Given the description of an element on the screen output the (x, y) to click on. 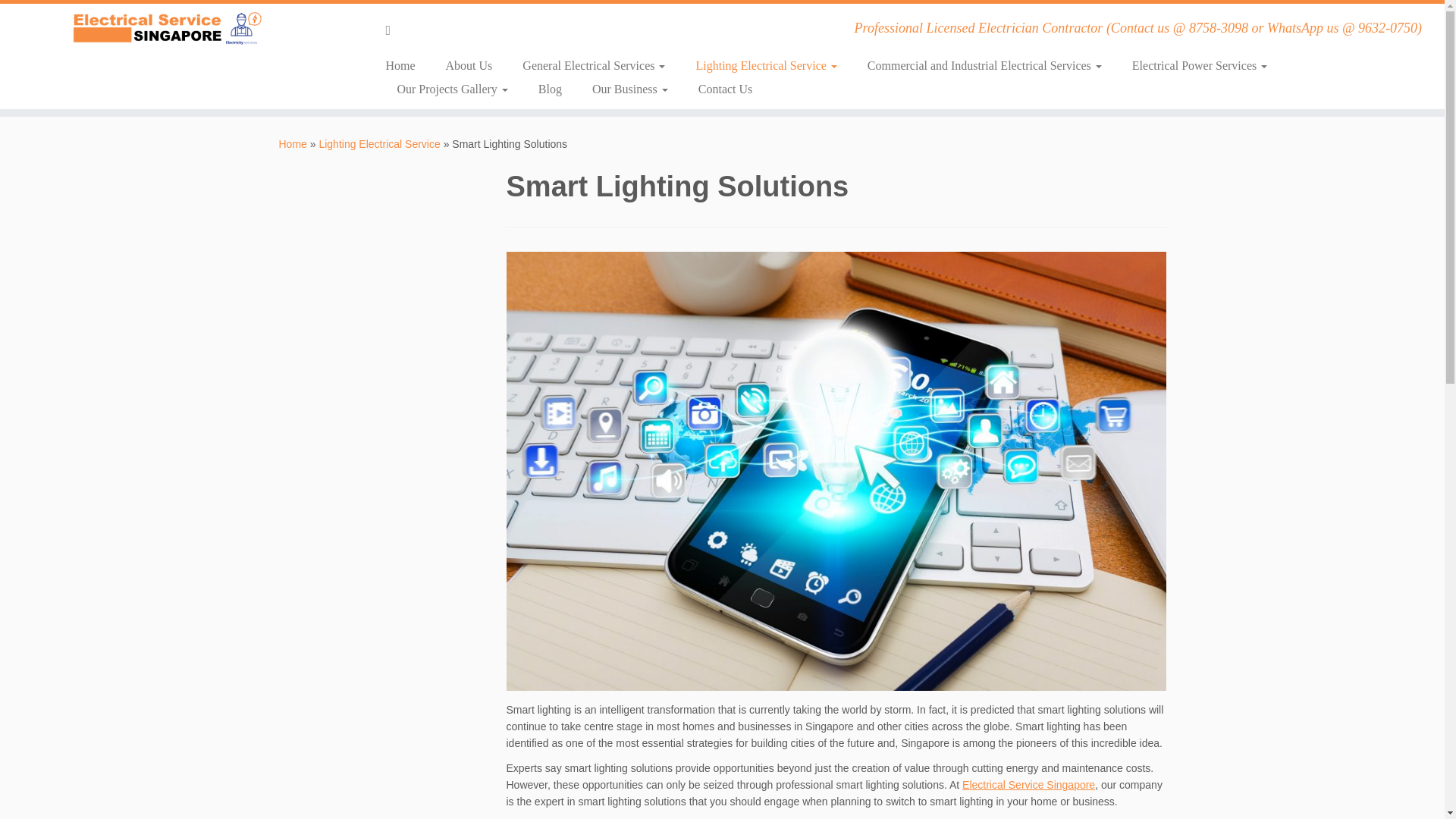
Commercial and Industrial Electrical Services (983, 65)
General Electrical Services (592, 65)
Lighting Electrical Service (765, 65)
Home (405, 65)
Electrical Engineering Service (293, 143)
Subscribe to my rss feed (392, 29)
About Us (469, 65)
Lighting Electrical Service (378, 143)
